Given the description of an element on the screen output the (x, y) to click on. 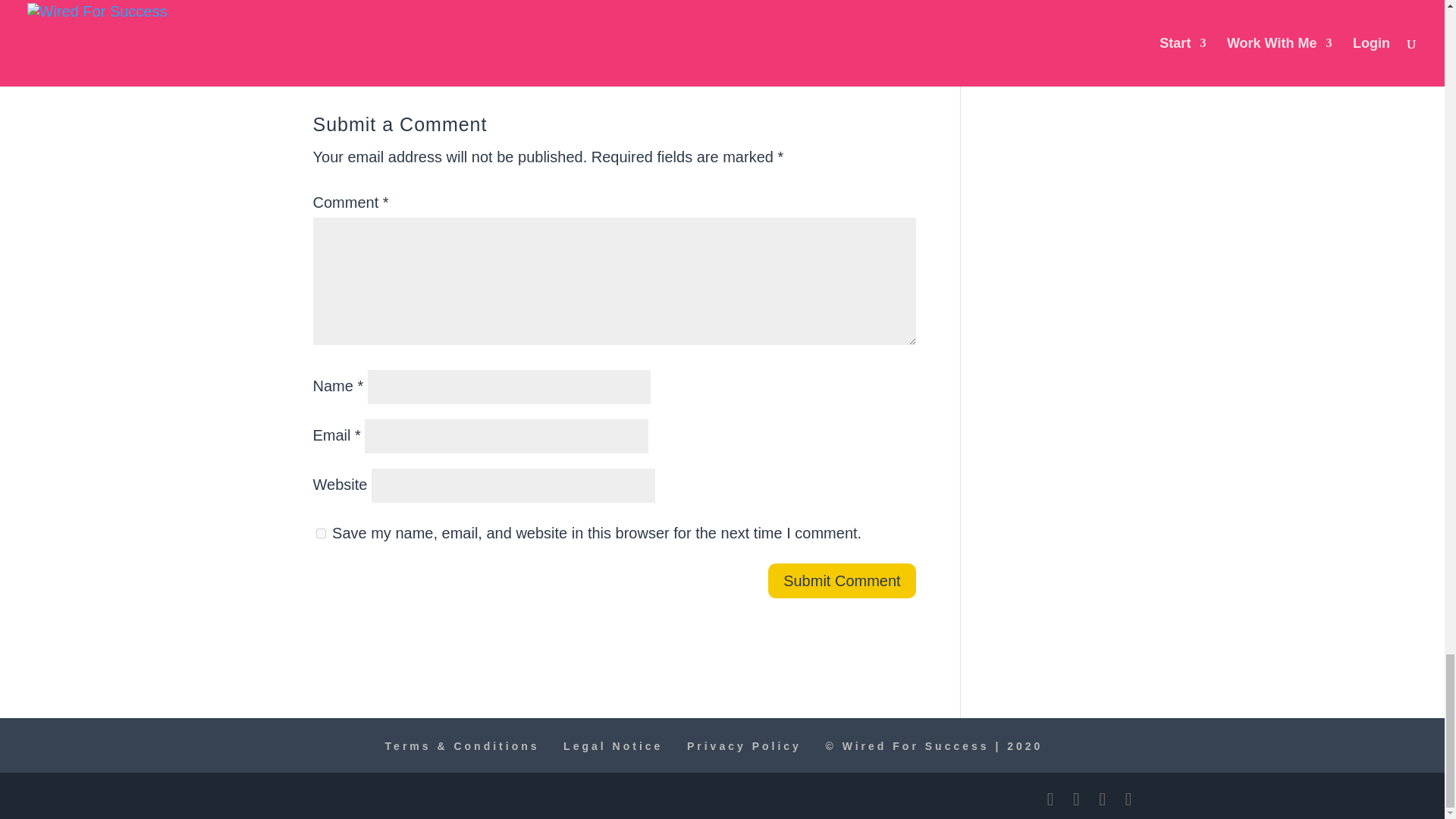
Legal Notice (612, 746)
Submit Comment (841, 580)
Submit Comment (841, 580)
yes (319, 533)
